Given the description of an element on the screen output the (x, y) to click on. 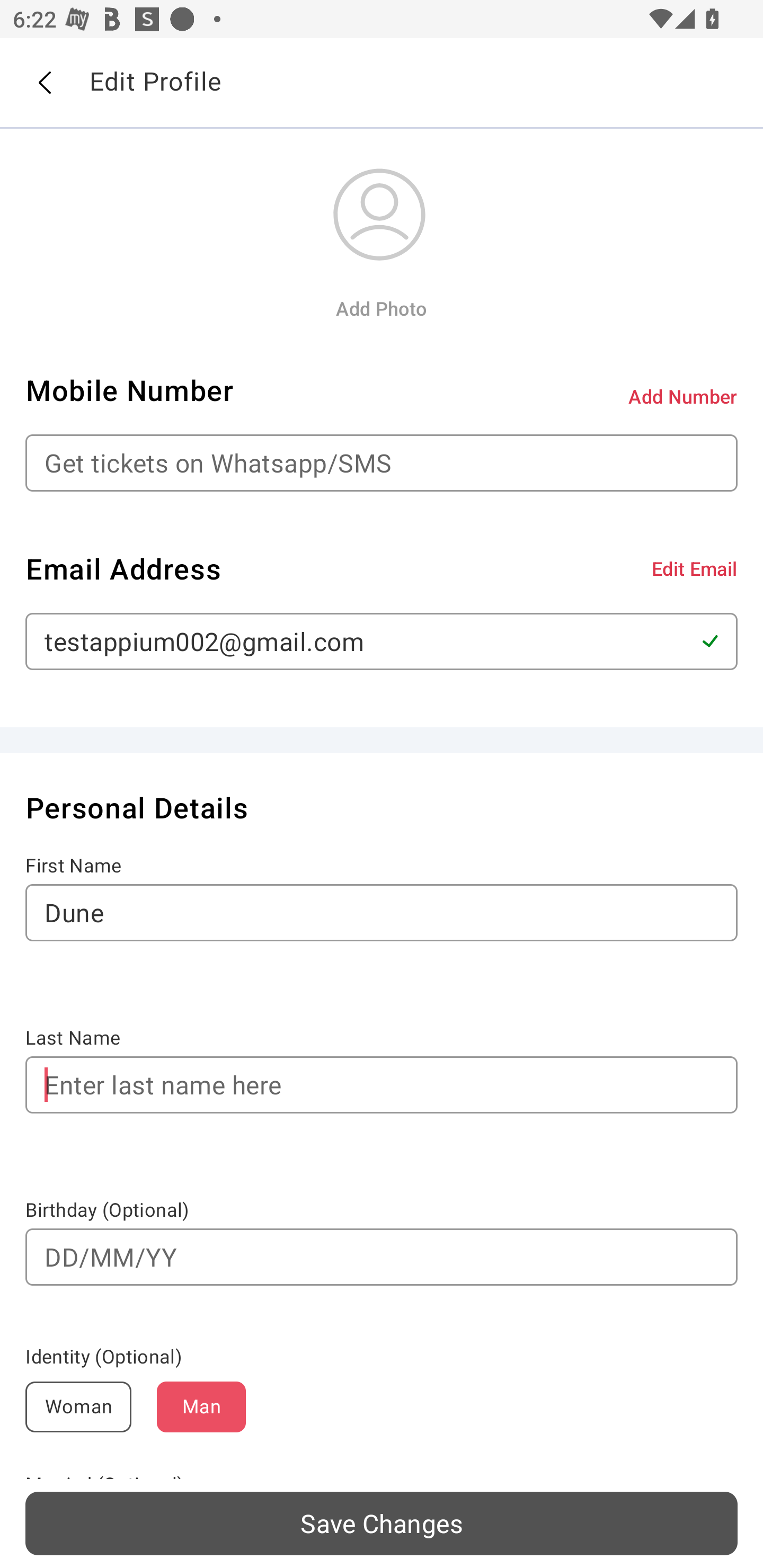
Back Edit Profile (381, 82)
Back (44, 82)
Add Photo (380, 307)
Add Number (682, 395)
Get tickets on Whatsapp/SMS (381, 463)
Edit Email (694, 568)
testappium002@gmail.com (381, 641)
Dune (381, 912)
Enter last name here (381, 1084)
DD/MM/YY (381, 1256)
Woman (78, 1407)
Man (201, 1407)
Save Changes (381, 1523)
